Given the description of an element on the screen output the (x, y) to click on. 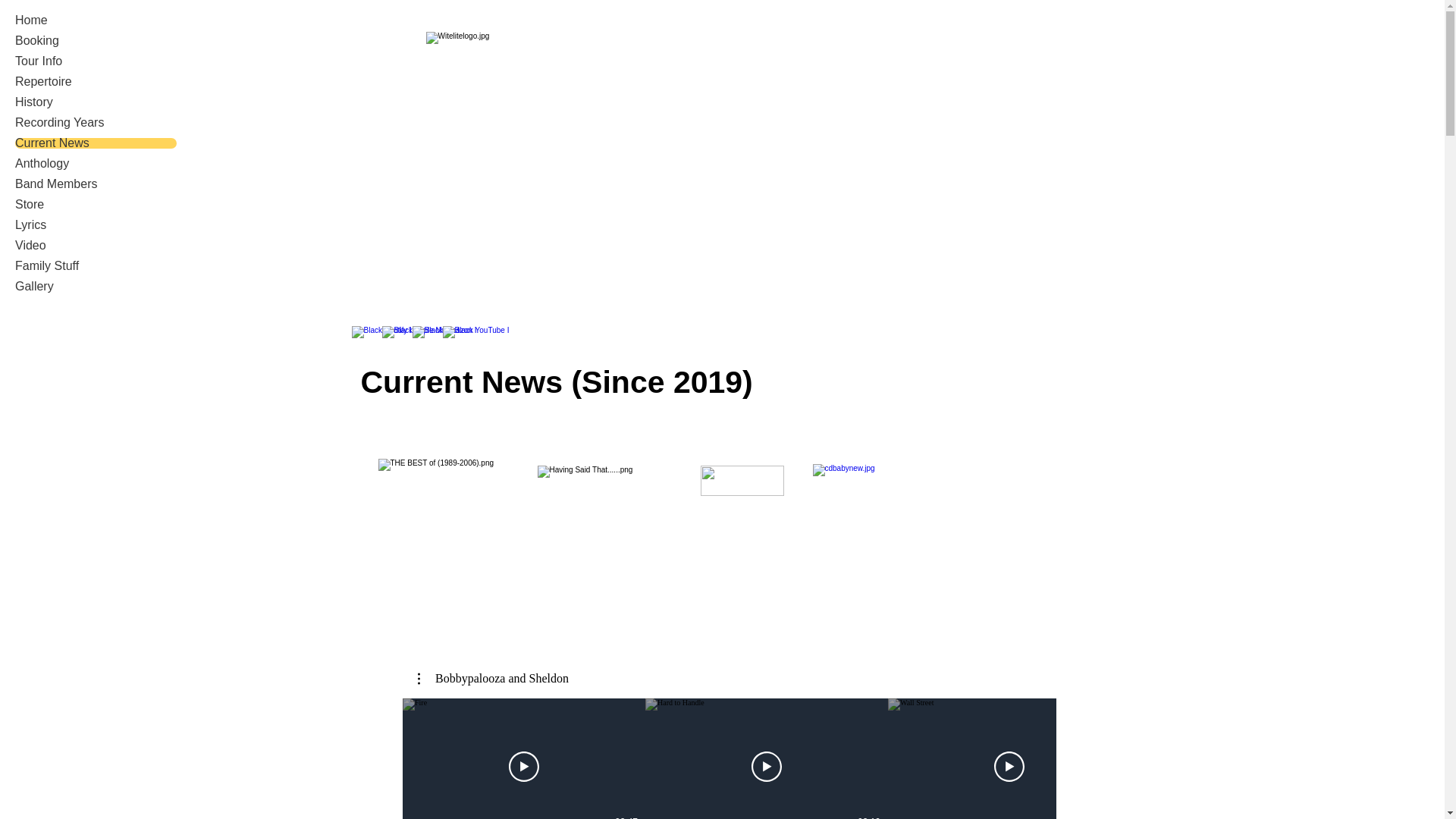
Lyrics (95, 225)
Booking (95, 40)
Get it on iTunes (742, 481)
Band Members (95, 184)
Gallery (95, 286)
Family Stuff (95, 266)
Current News (95, 143)
Home (95, 20)
Tour Info (95, 61)
Anthology (95, 163)
